Given the description of an element on the screen output the (x, y) to click on. 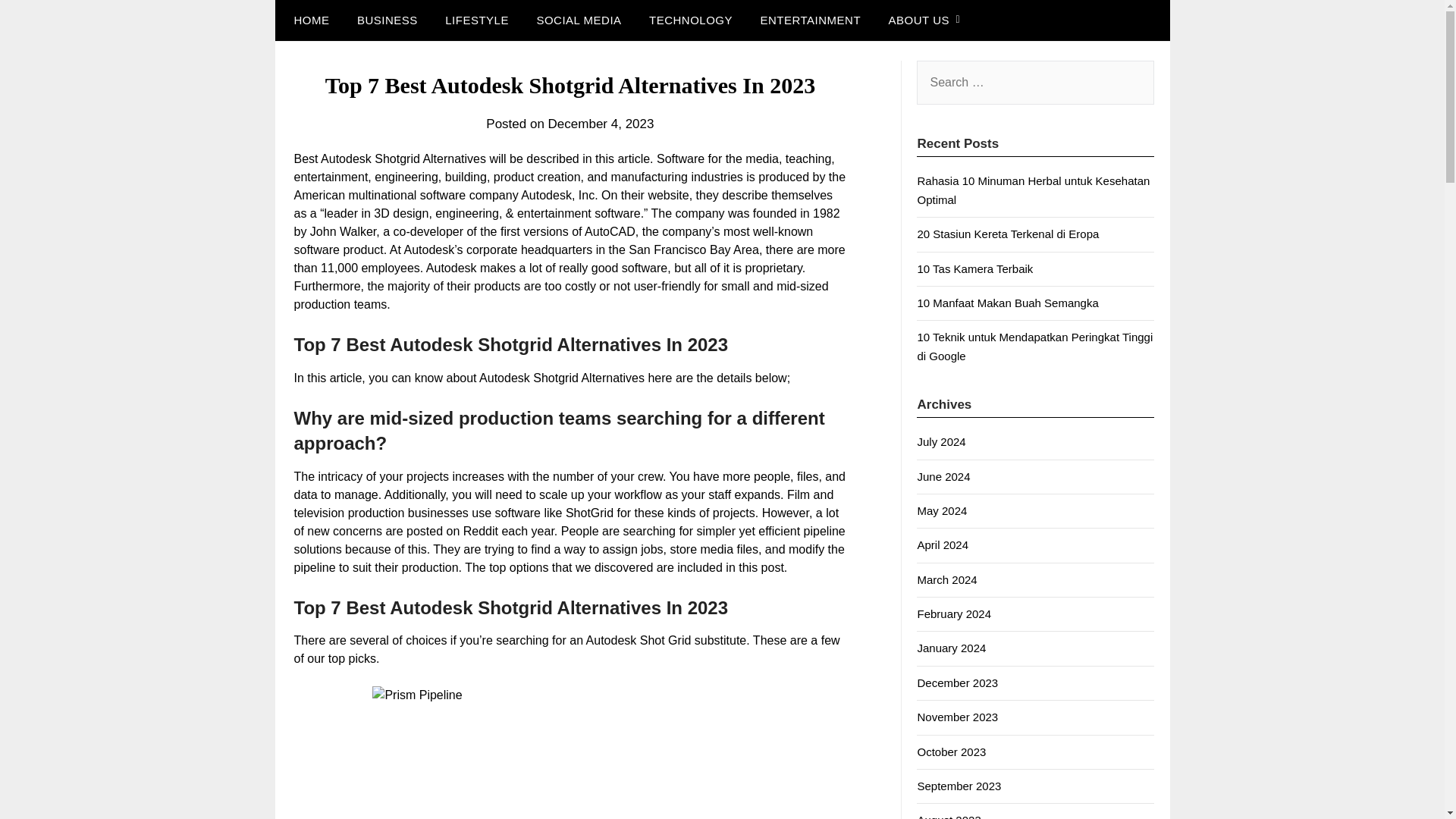
20 Stasiun Kereta Terkenal di Eropa (1008, 233)
June 2024 (943, 476)
September 2023 (959, 785)
ENTERTAINMENT (810, 20)
August 2023 (948, 816)
HOME (307, 20)
SOCIAL MEDIA (578, 20)
10 Manfaat Makan Buah Semangka (1007, 302)
February 2024 (954, 613)
10 Tas Kamera Terbaik (974, 268)
Rahasia 10 Minuman Herbal untuk Kesehatan Optimal (1033, 189)
April 2024 (942, 544)
BUSINESS (387, 20)
December 2023 (957, 682)
October 2023 (951, 751)
